Given the description of an element on the screen output the (x, y) to click on. 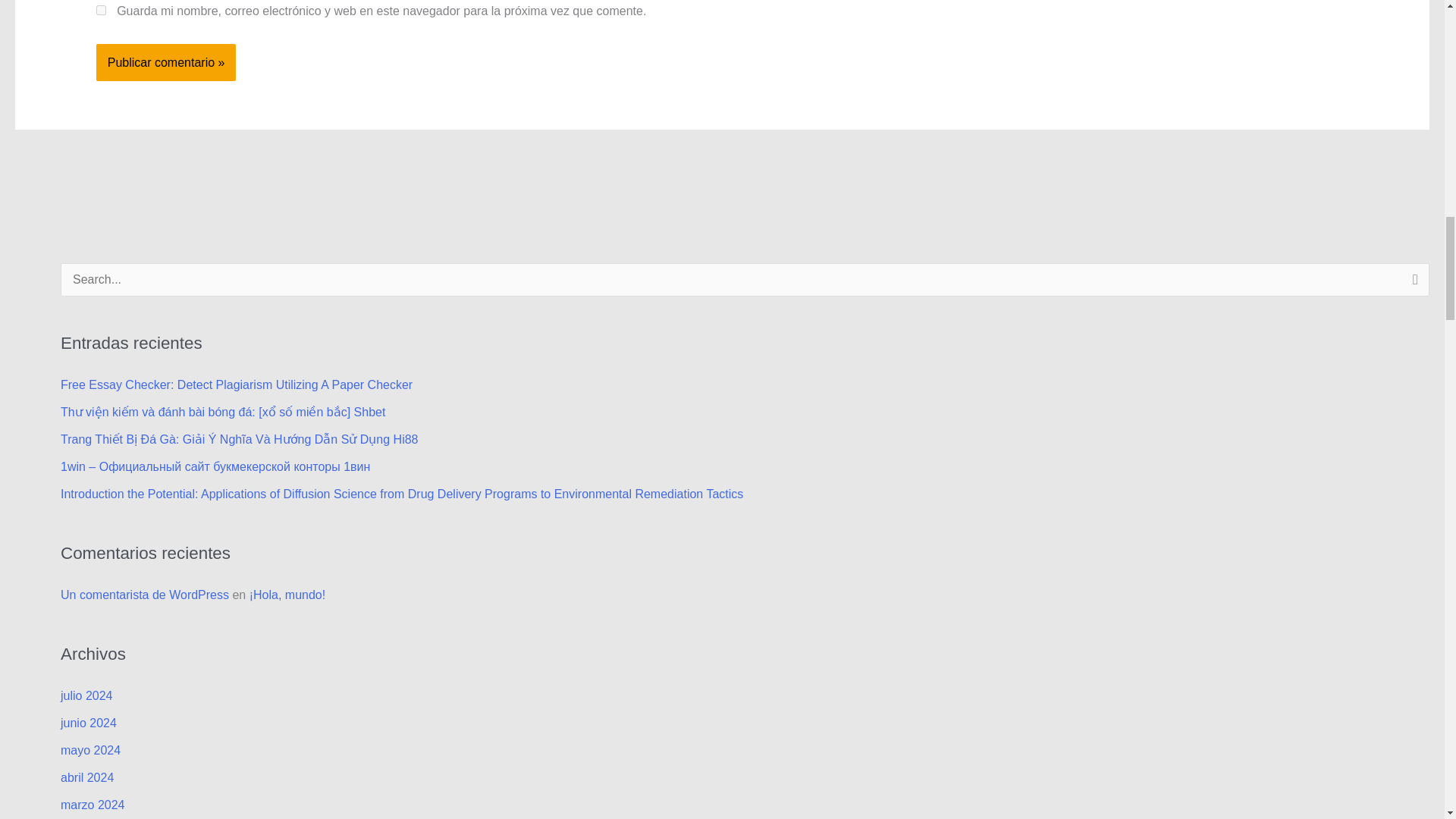
Un comentarista de WordPress (144, 594)
Buscar (1411, 283)
marzo 2024 (93, 804)
Buscar (1411, 283)
Buscar (1411, 283)
mayo 2024 (90, 749)
julio 2024 (87, 695)
junio 2024 (88, 722)
yes (101, 9)
abril 2024 (87, 777)
